Given the description of an element on the screen output the (x, y) to click on. 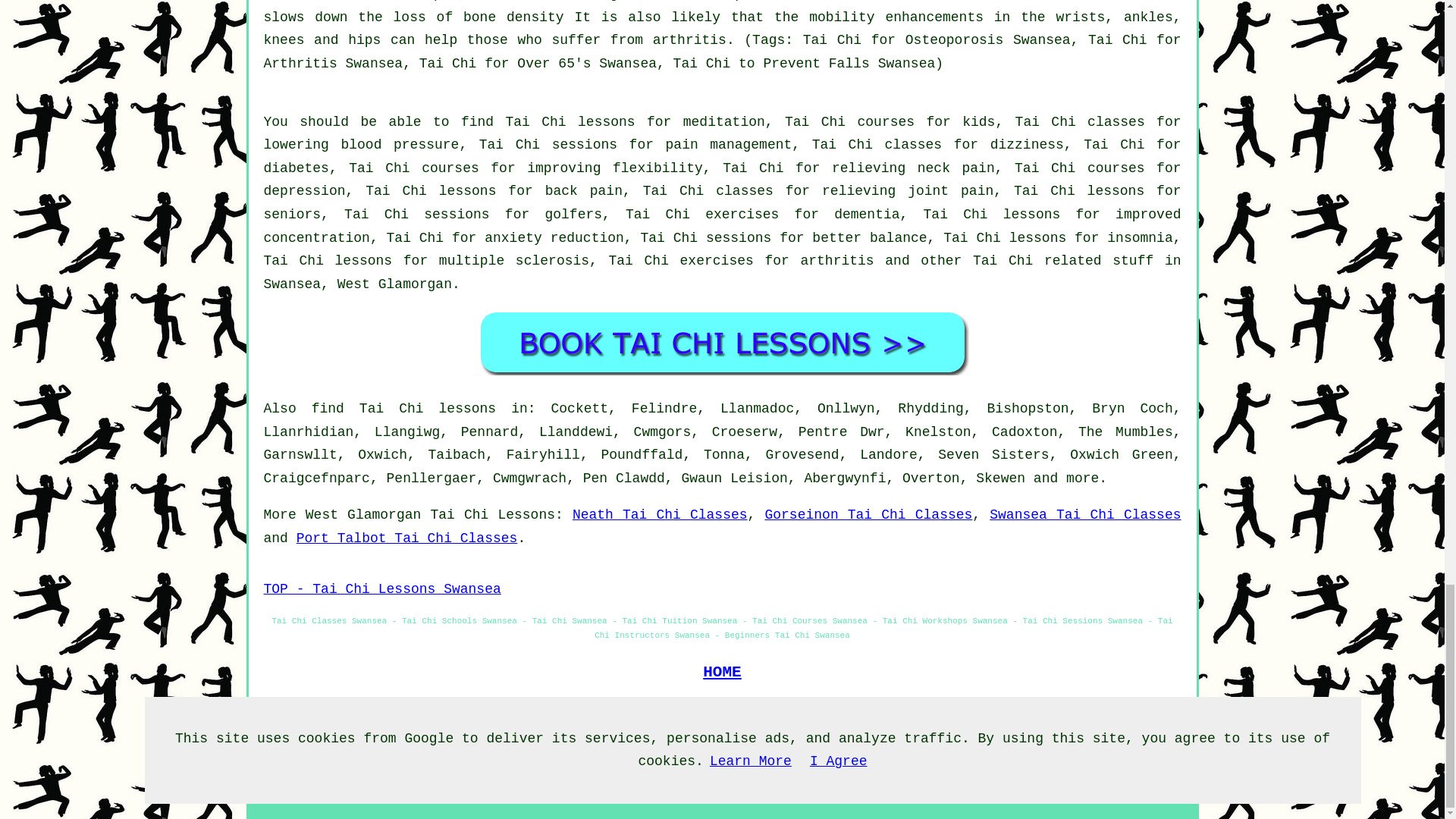
Swansea Tai Chi Classes (1085, 514)
Book Tai Chi Lessons (722, 342)
Gorseinon Tai Chi Classes (868, 514)
Port Talbot Tai Chi Classes (407, 538)
Neath Tai Chi Classes (660, 514)
